Given the description of an element on the screen output the (x, y) to click on. 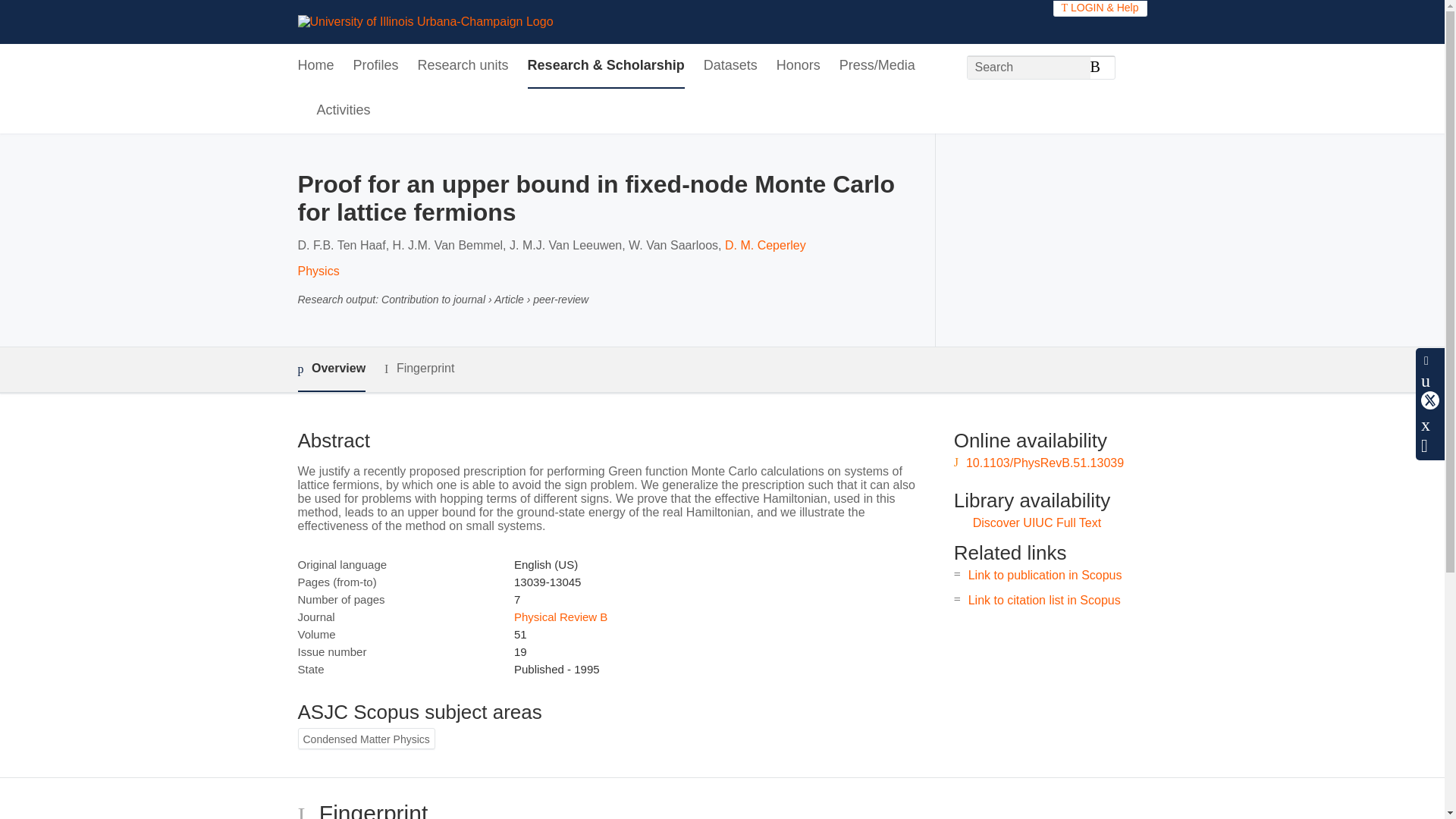
Discover UIUC Full Text (1037, 522)
Profiles (375, 66)
Honors (798, 66)
Link to citation list in Scopus (1044, 599)
Link to publication in Scopus (1045, 574)
Fingerprint (419, 368)
D. M. Ceperley (765, 245)
Overview (331, 369)
University of Illinois Urbana-Champaign Home (425, 21)
Activities (344, 110)
Research units (462, 66)
Physics (318, 270)
Datasets (730, 66)
Physical Review B (560, 616)
